Given the description of an element on the screen output the (x, y) to click on. 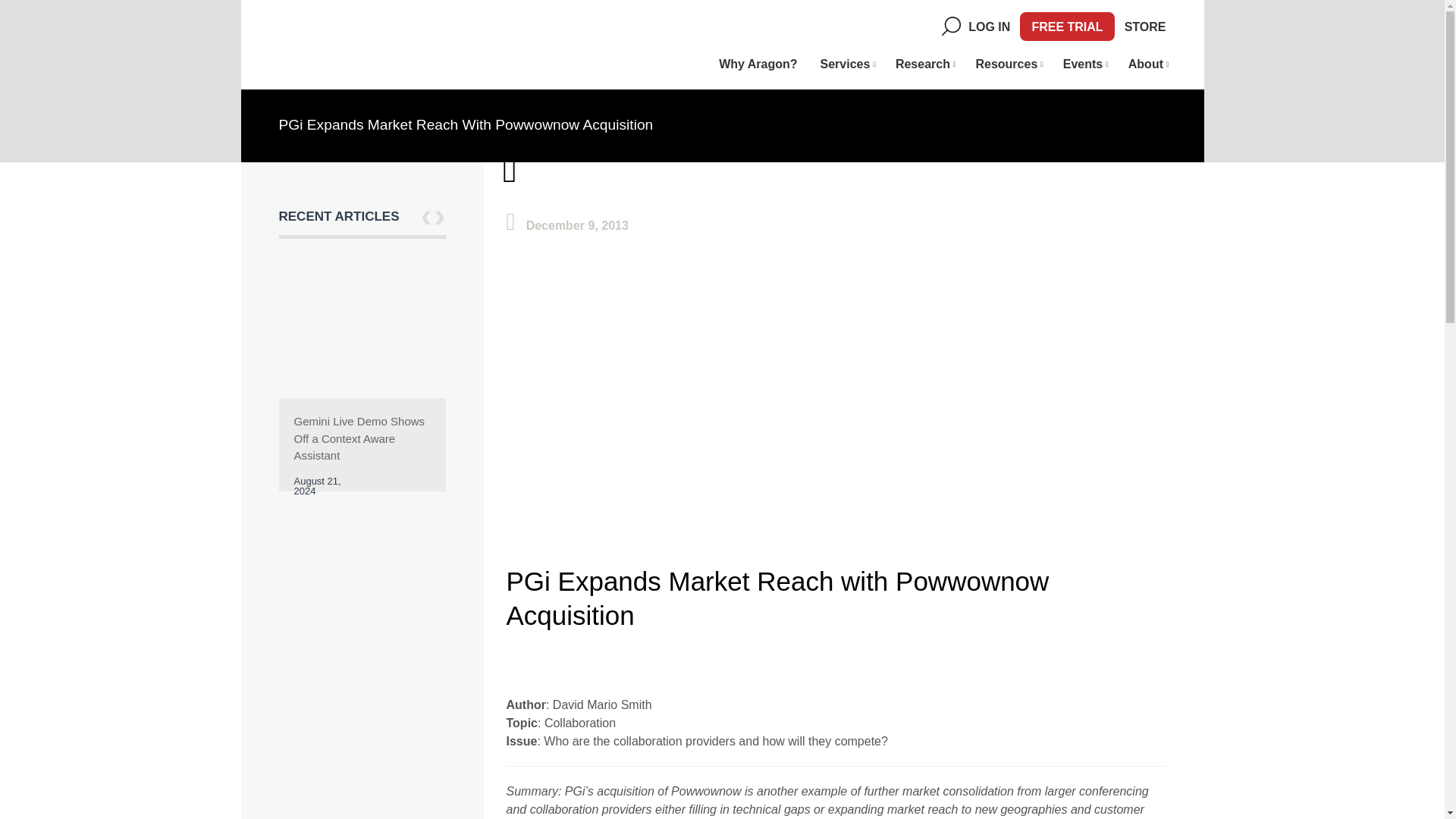
Services (846, 64)
aragon research front page logo (373, 49)
Research (924, 64)
Why Aragon? (757, 64)
Gemini Live Demo Shows Off a Context Aware Assistant 2 (362, 325)
LOG IN (989, 27)
STORE (1145, 27)
About (1147, 64)
Resources (1007, 64)
Rechercher (955, 29)
